Given the description of an element on the screen output the (x, y) to click on. 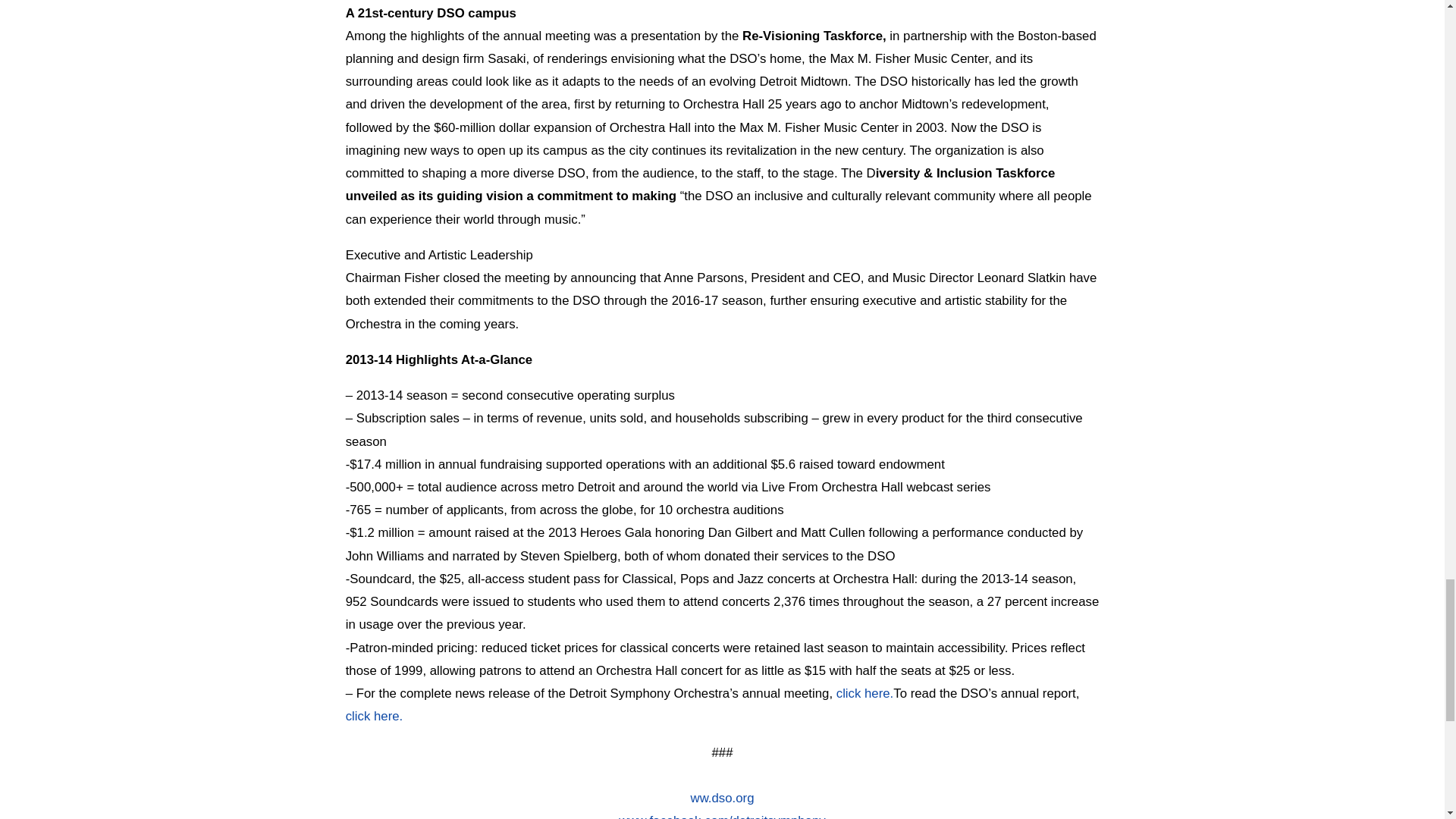
ww.dso.org (722, 805)
click here. (864, 693)
click here. (374, 716)
